Given the description of an element on the screen output the (x, y) to click on. 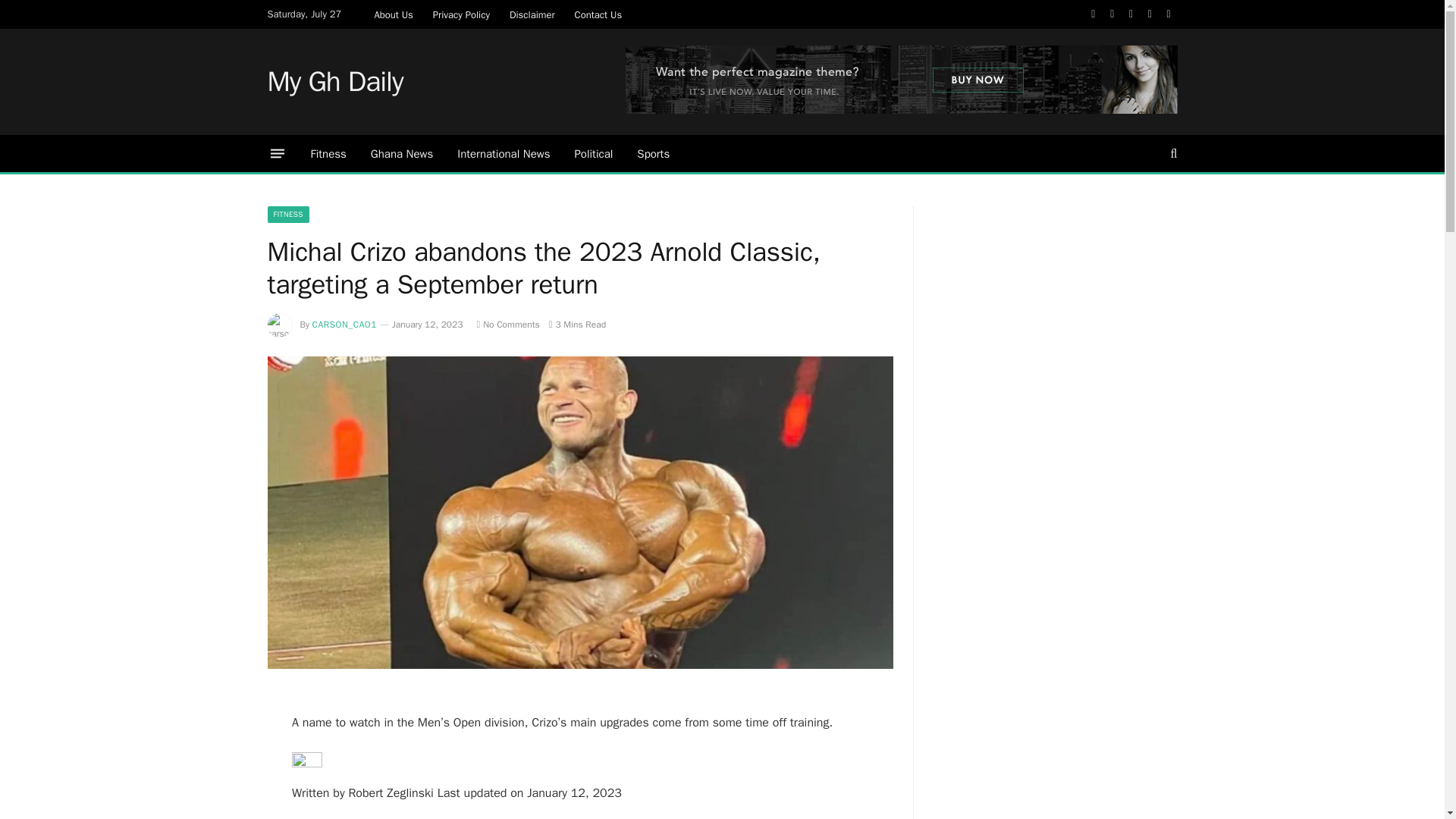
FITNESS (287, 214)
About Us (393, 14)
Disclaimer (531, 14)
Ghana News (401, 153)
My Gh Daily  (334, 81)
Contact Us (597, 14)
Political (593, 153)
International News (503, 153)
Fitness (328, 153)
Sports (652, 153)
Privacy Policy (461, 14)
My Gh Daily (334, 81)
No Comments (507, 324)
